Given the description of an element on the screen output the (x, y) to click on. 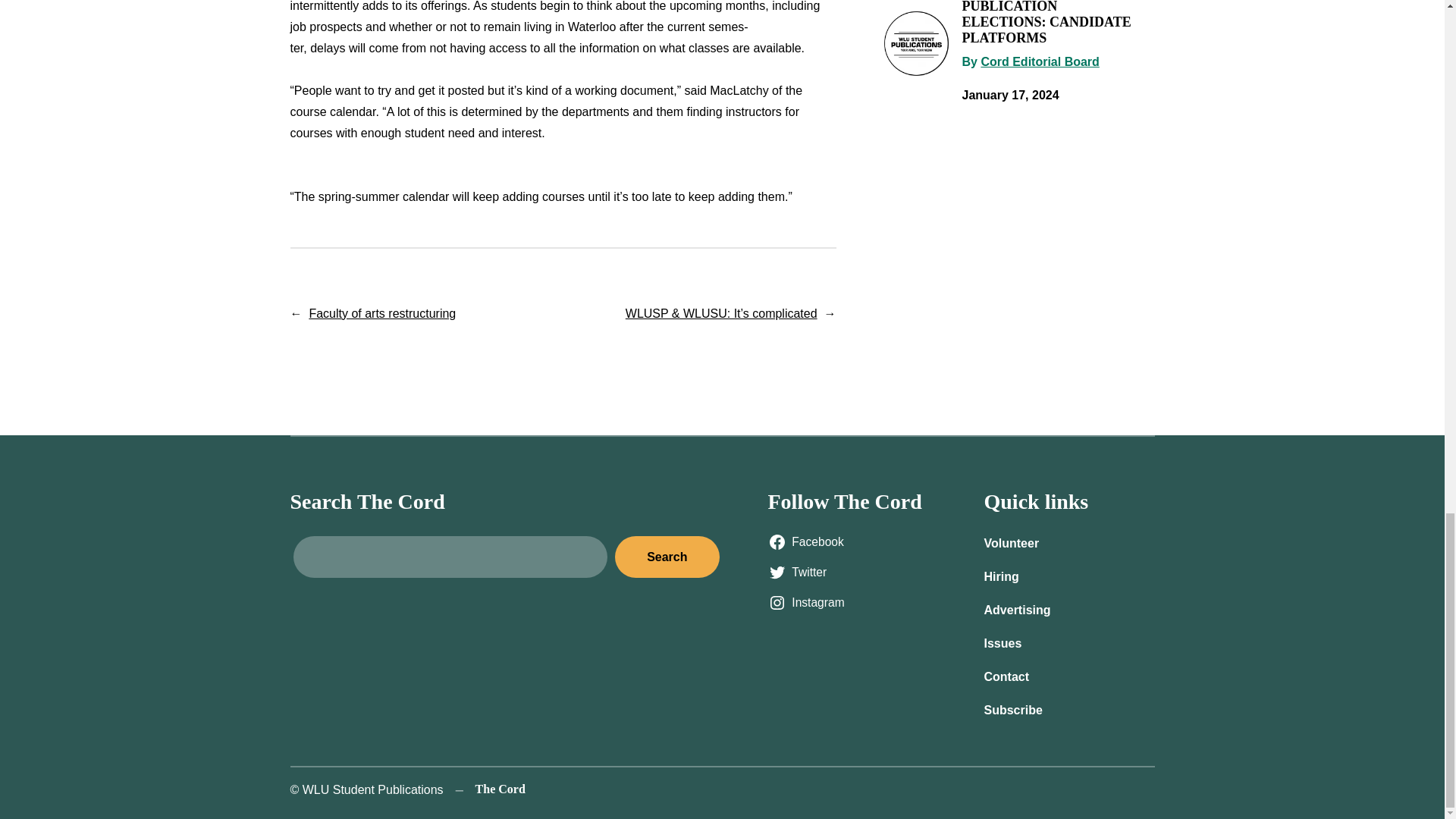
Posts by Cord Editorial Board (1039, 61)
Faculty of arts restructuring (381, 313)
